Given the description of an element on the screen output the (x, y) to click on. 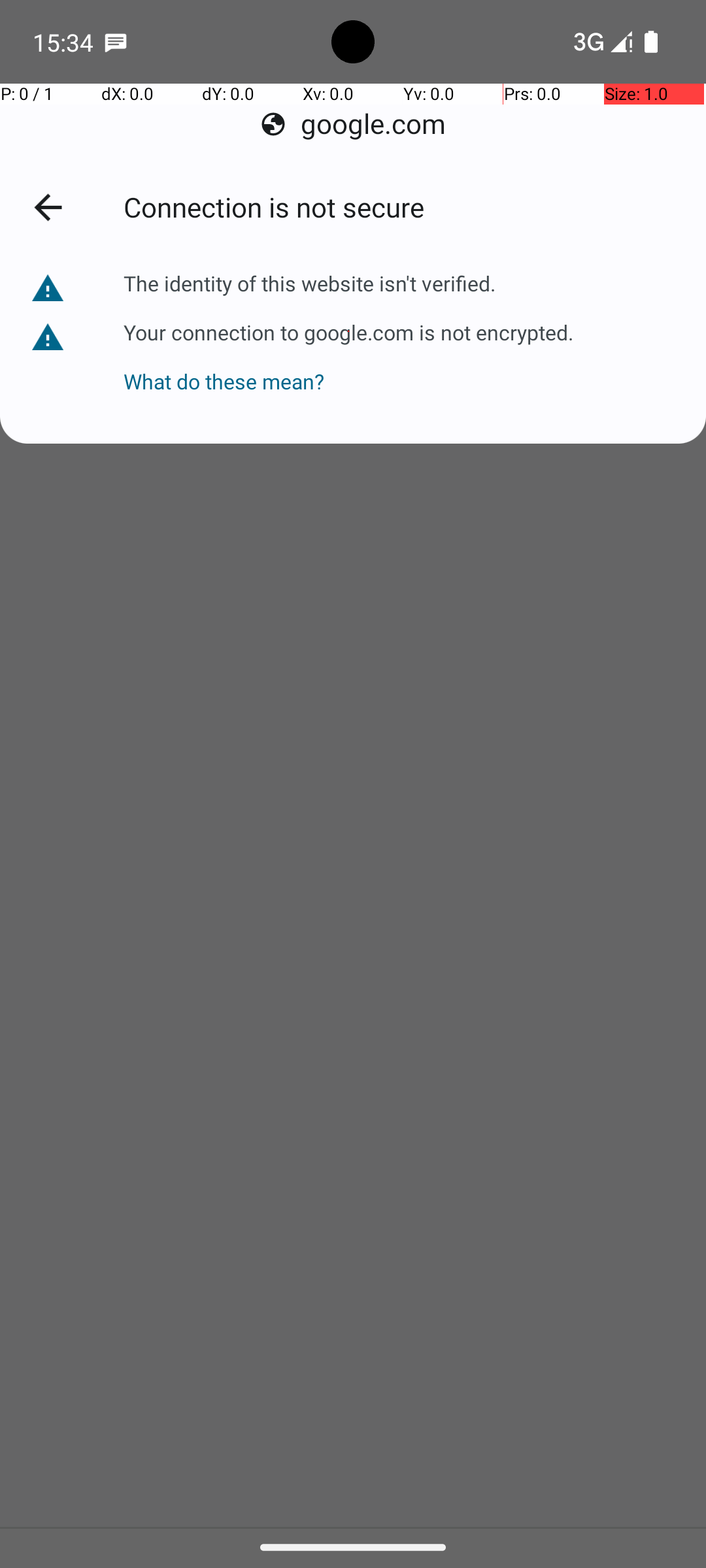
Back Element type: android.widget.ImageButton (56, 209)
Connection is not secure Element type: android.widget.TextView (399, 209)
The identity of this website isn't verified. Element type: android.widget.TextView (311, 283)
Your connection to google.com is not encrypted. Element type: android.widget.TextView (348, 330)
What do these mean? Element type: android.widget.TextView (348, 368)
google.com Element type: android.widget.TextView (352, 124)
SMS Messenger notification: +10214033213 Element type: android.widget.ImageView (115, 41)
